Given the description of an element on the screen output the (x, y) to click on. 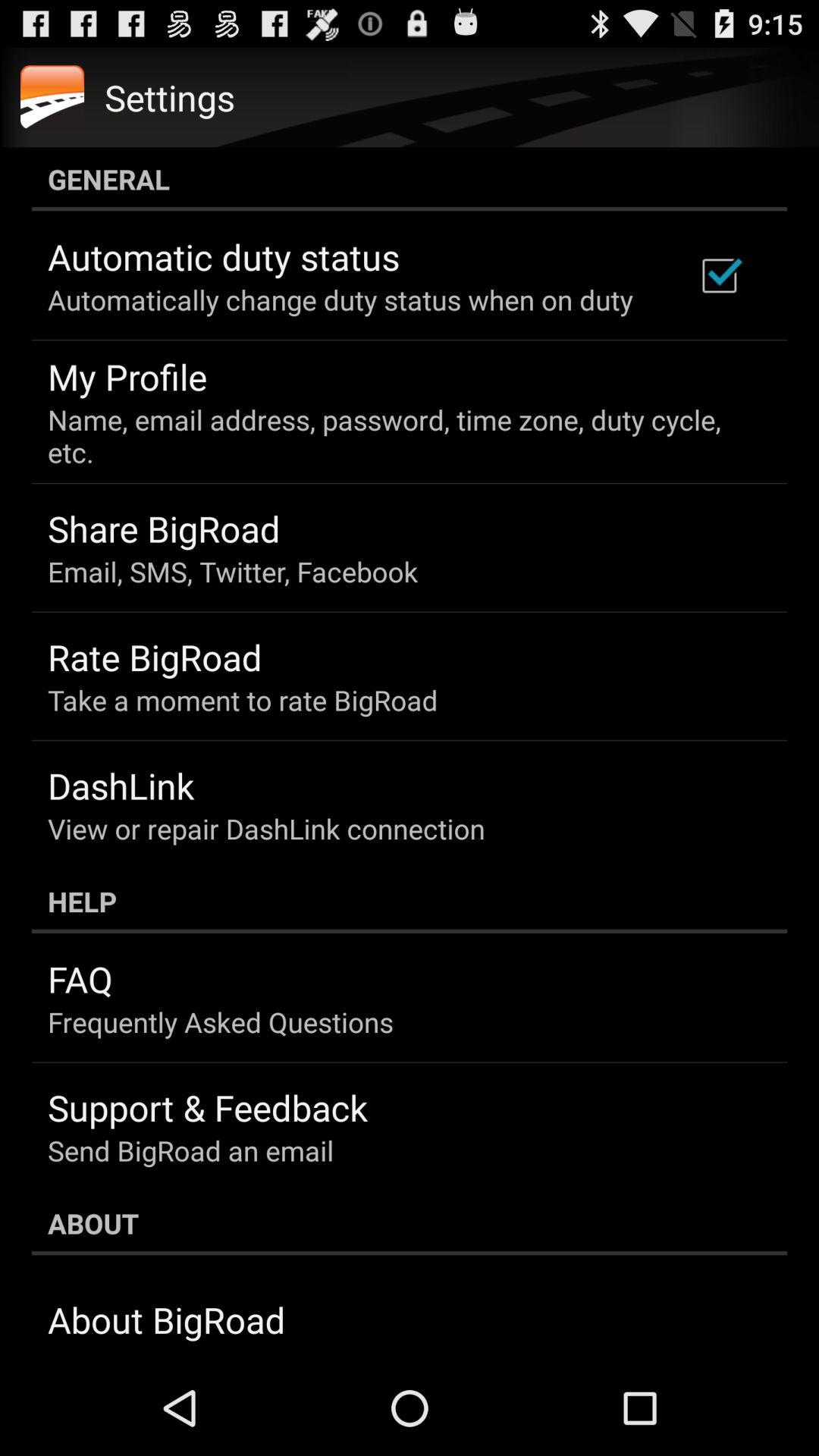
launch the item below the support & feedback item (190, 1150)
